Given the description of an element on the screen output the (x, y) to click on. 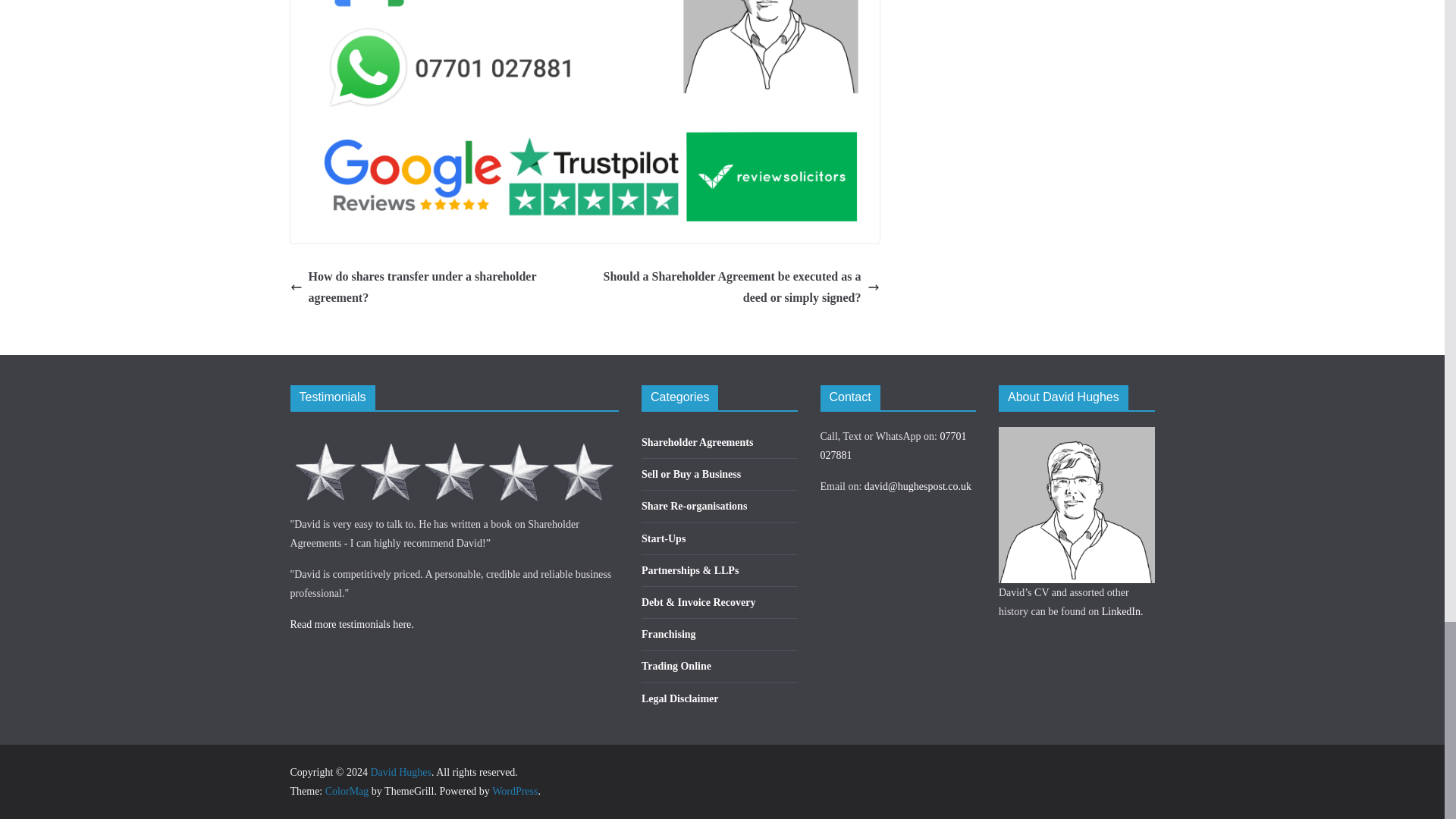
WordPress (514, 790)
Read more testimonials here. (351, 624)
How do shares transfer under a shareholder agreement? (432, 288)
Share Re-organisations (694, 505)
Sell or Buy a Business (691, 473)
Start-Ups (663, 538)
LinkedIn (1121, 611)
David Hughes (399, 772)
Shareholder Agreements (697, 441)
ColorMag (346, 790)
